Given the description of an element on the screen output the (x, y) to click on. 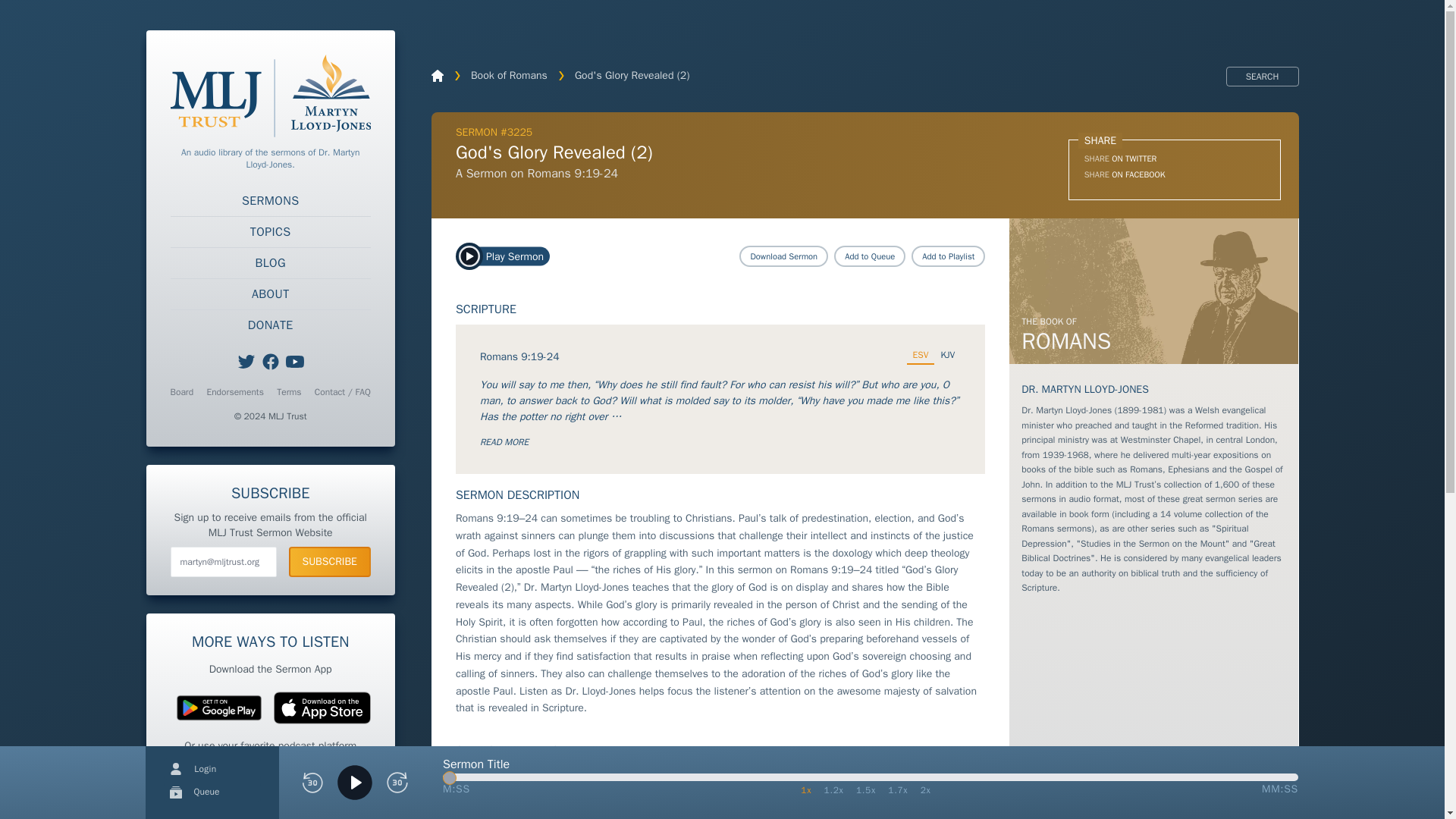
SERMONS (269, 200)
TOPICS (269, 232)
Endorsements (234, 391)
BLOG (269, 263)
DONATE (269, 325)
ABOUT (269, 294)
Subscribe (328, 562)
MLJ Trust on Facebook (270, 361)
Board (181, 391)
queue (176, 792)
Sermons on Book of Romans by Dr. Martyn Lloyd-Jones (1153, 290)
MLJ Trust on Twitter (246, 361)
Terms (288, 391)
Subscribe (328, 562)
